Given the description of an element on the screen output the (x, y) to click on. 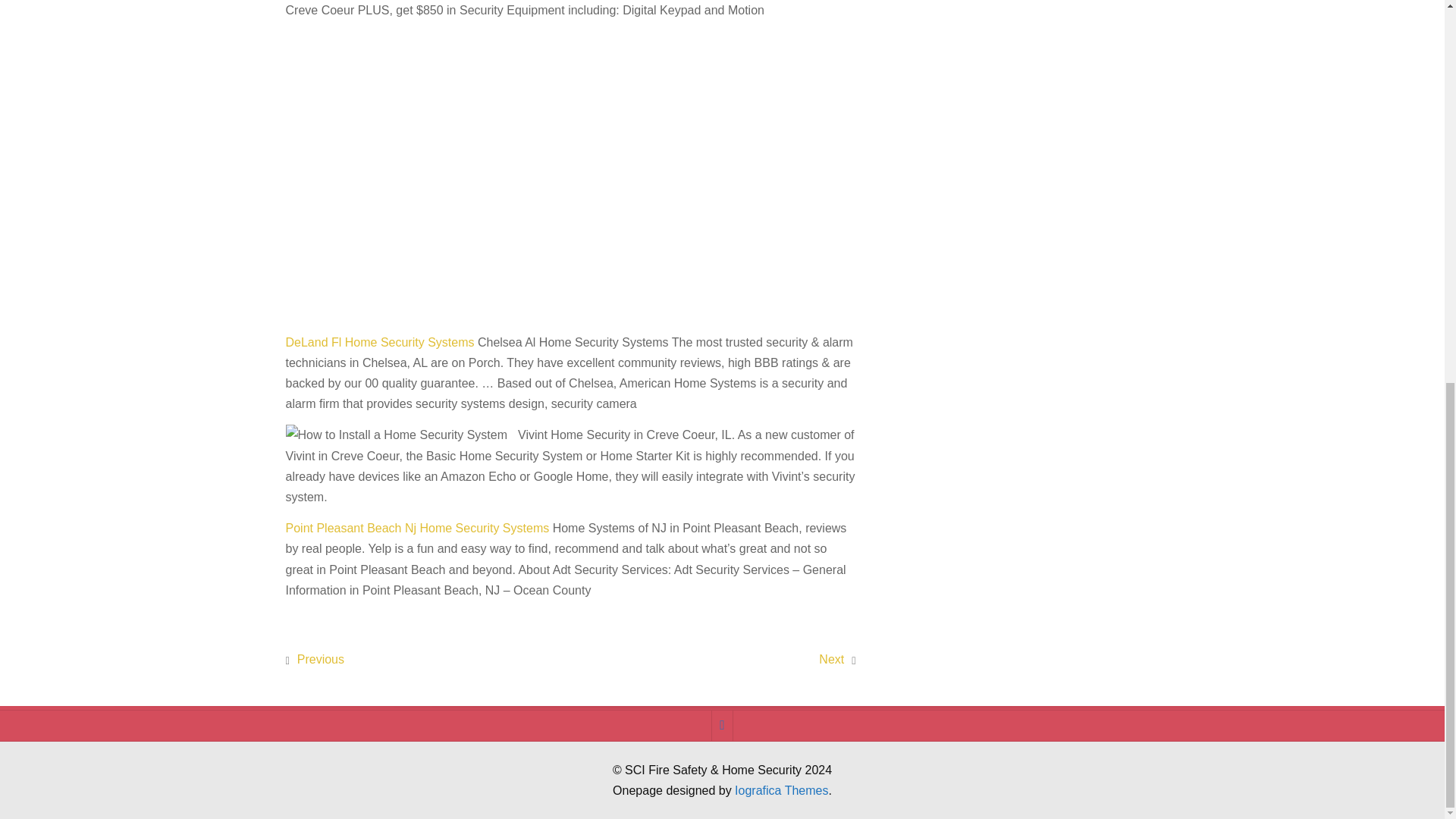
Point Pleasant Beach Nj Home Security Systems (416, 527)
Iografica Themes (781, 789)
DeLand Fl Home Security Systems (379, 341)
Previous (320, 658)
Next (831, 658)
